Given the description of an element on the screen output the (x, y) to click on. 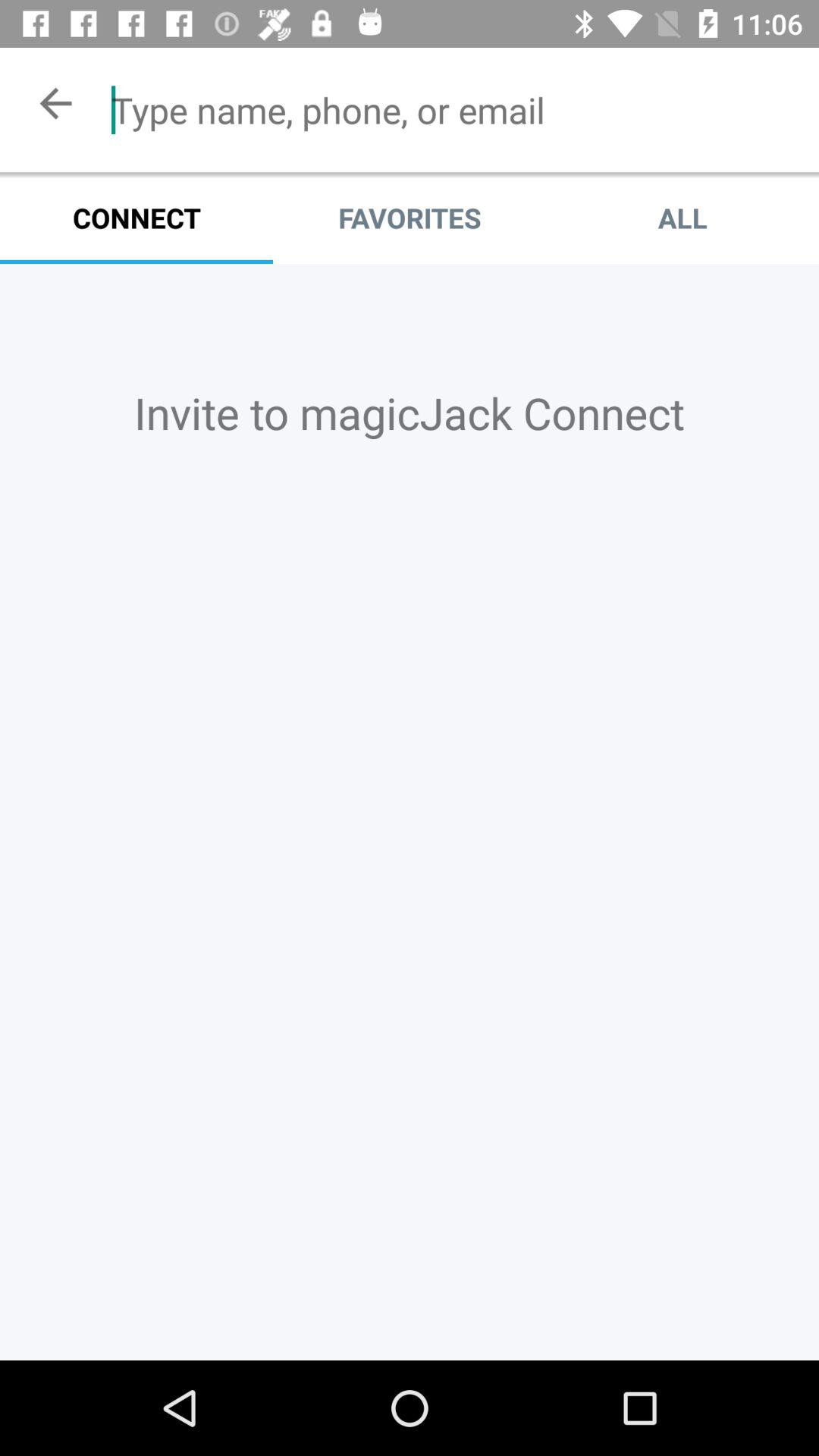
flip until the invite to magicjack icon (409, 412)
